Given the description of an element on the screen output the (x, y) to click on. 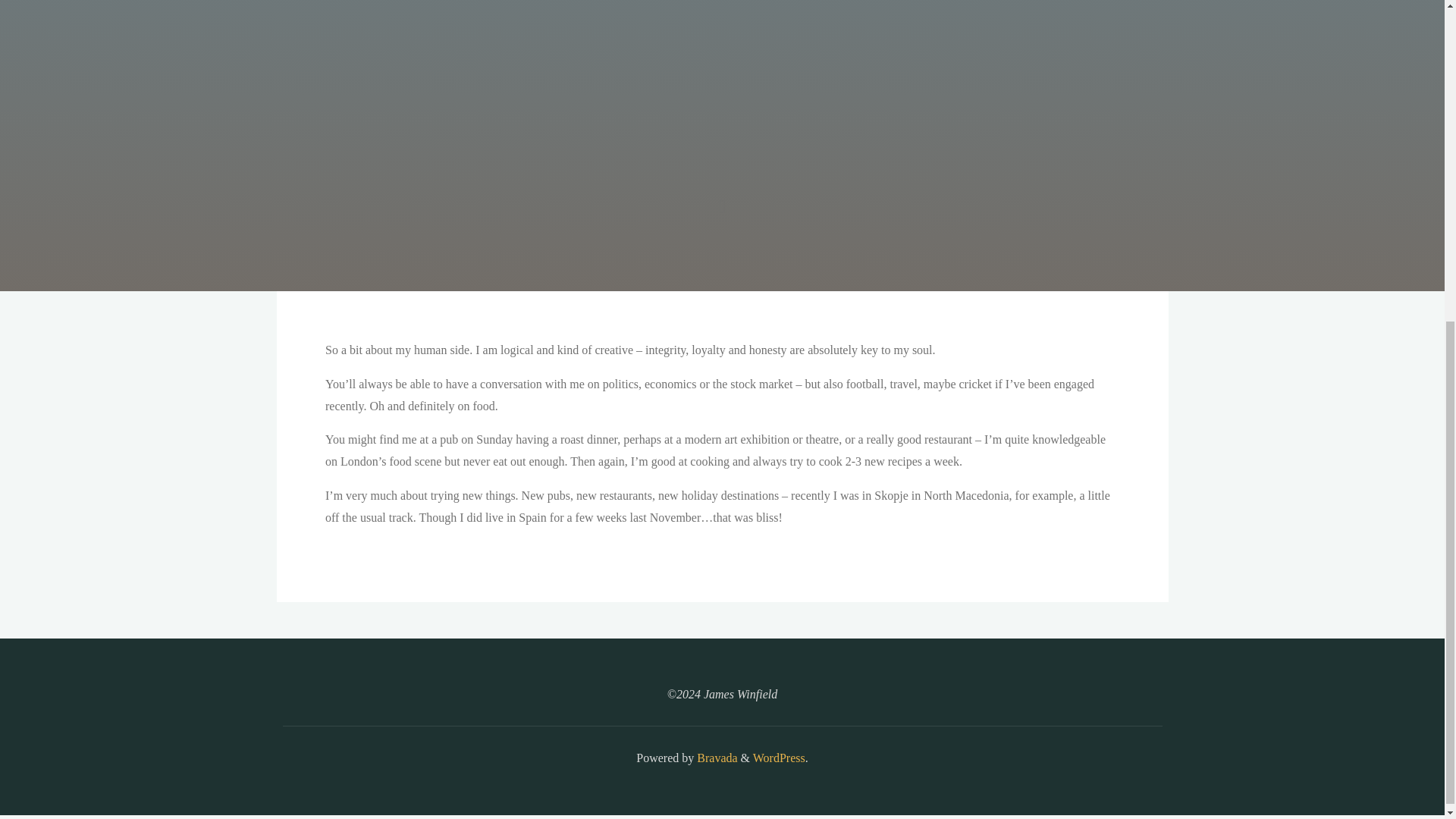
Read more (721, 197)
Bravada WordPress Theme by Cryout Creations (715, 757)
WordPress (778, 757)
Bravada (715, 757)
Semantic Personal Publishing Platform (778, 757)
